Given the description of an element on the screen output the (x, y) to click on. 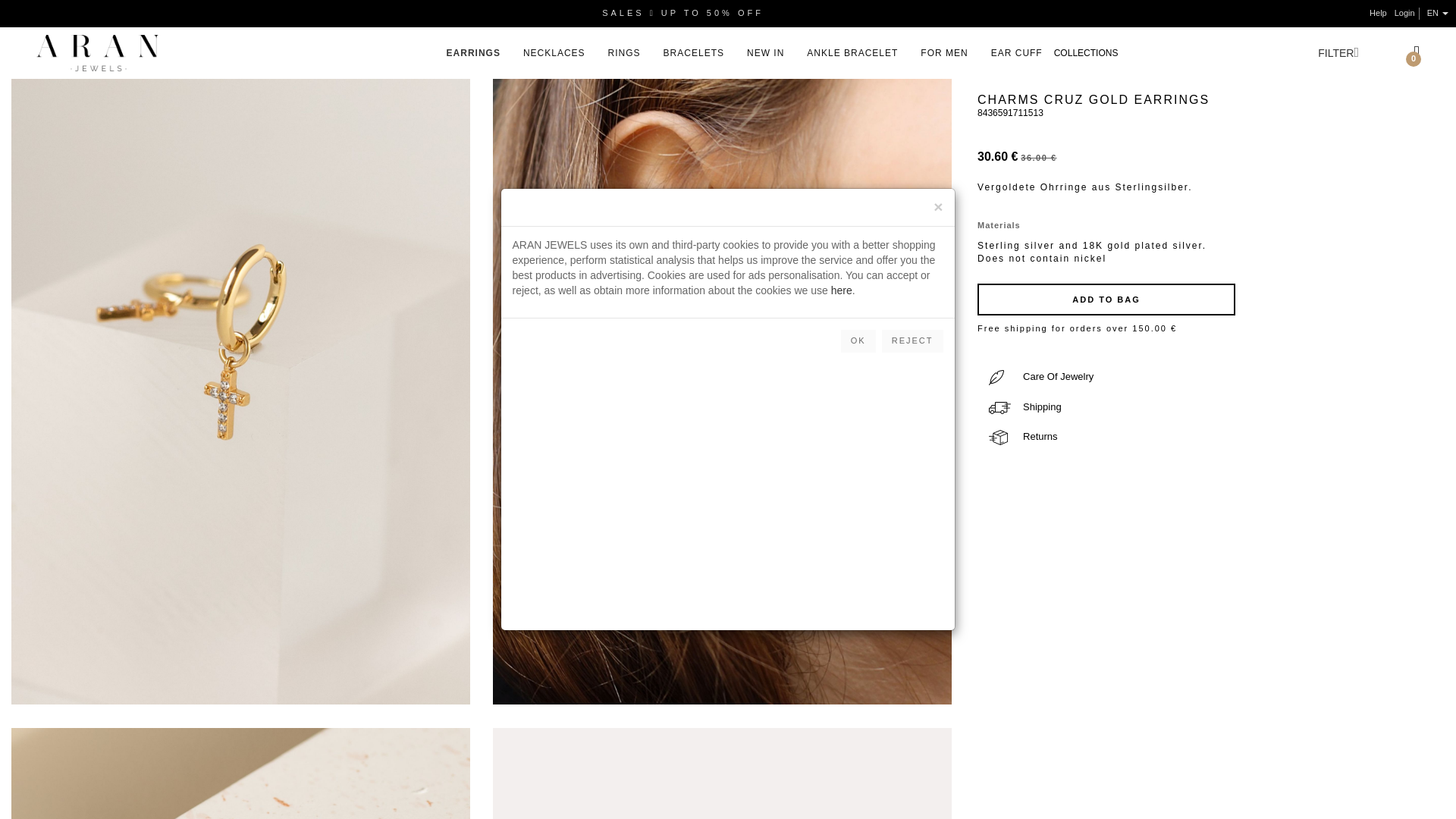
Login (1404, 12)
NECKLACES (553, 53)
Add to bag (1105, 299)
NEW IN (765, 53)
ANKLE BRACELET (852, 53)
RINGS (624, 53)
BRACELETS (693, 53)
EAR CUFF (1016, 53)
Shipping (1024, 406)
EARRINGS (473, 53)
Care Of Jewelry (1040, 376)
Help (1378, 12)
FOR MEN (944, 53)
Add to bag (1105, 299)
Returns (1023, 436)
